Given the description of an element on the screen output the (x, y) to click on. 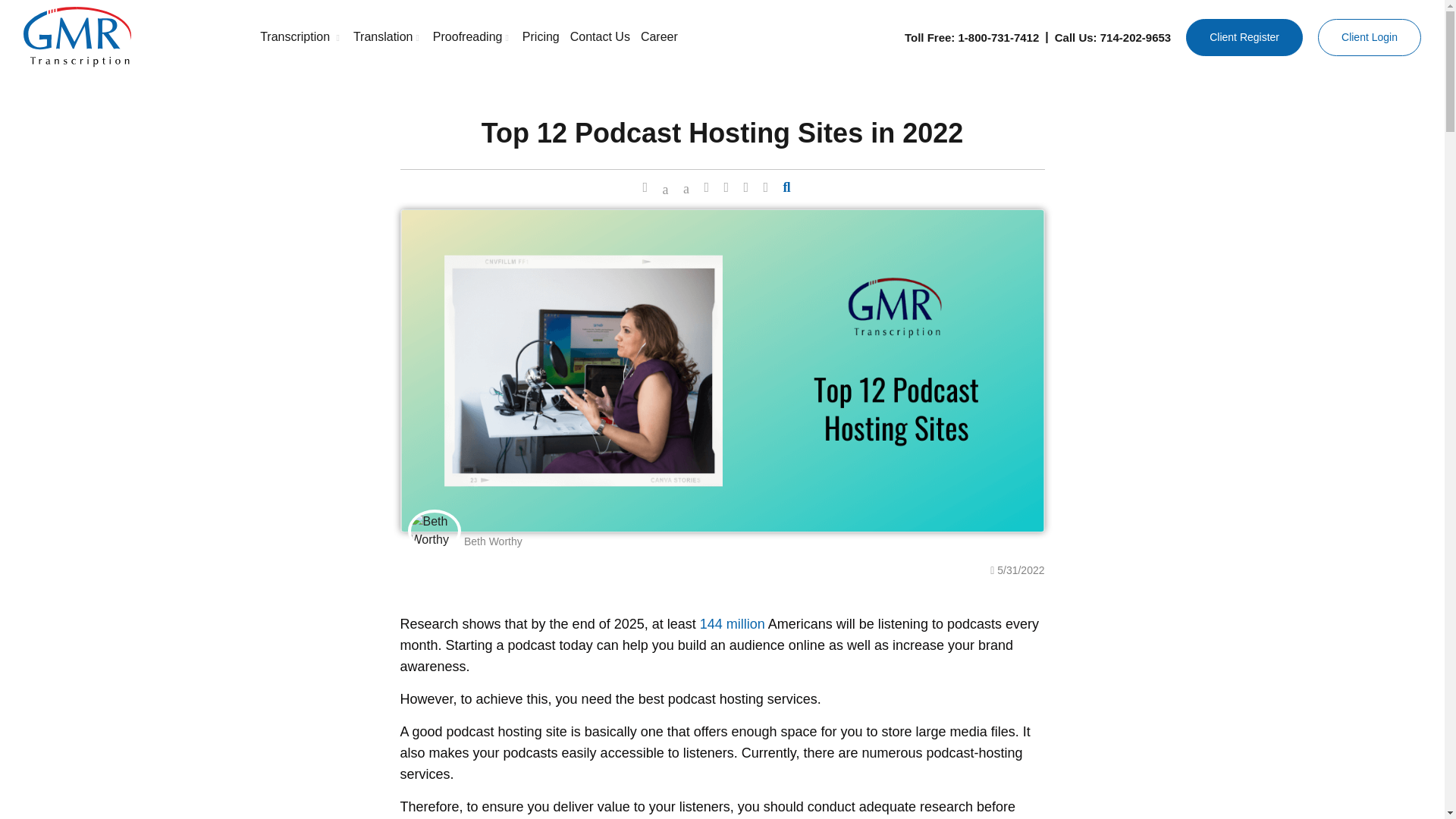
GMR TRANSCRIPTION (130, 36)
Proofreading (472, 37)
Translation (387, 37)
Translation (387, 37)
Transcription (301, 37)
Transcription (301, 37)
Client Register (1244, 36)
Toll Free: 1-800-731-7412 (971, 36)
Call Us: 714-202-9653 (1112, 36)
Client Login (1369, 36)
